Given the description of an element on the screen output the (x, y) to click on. 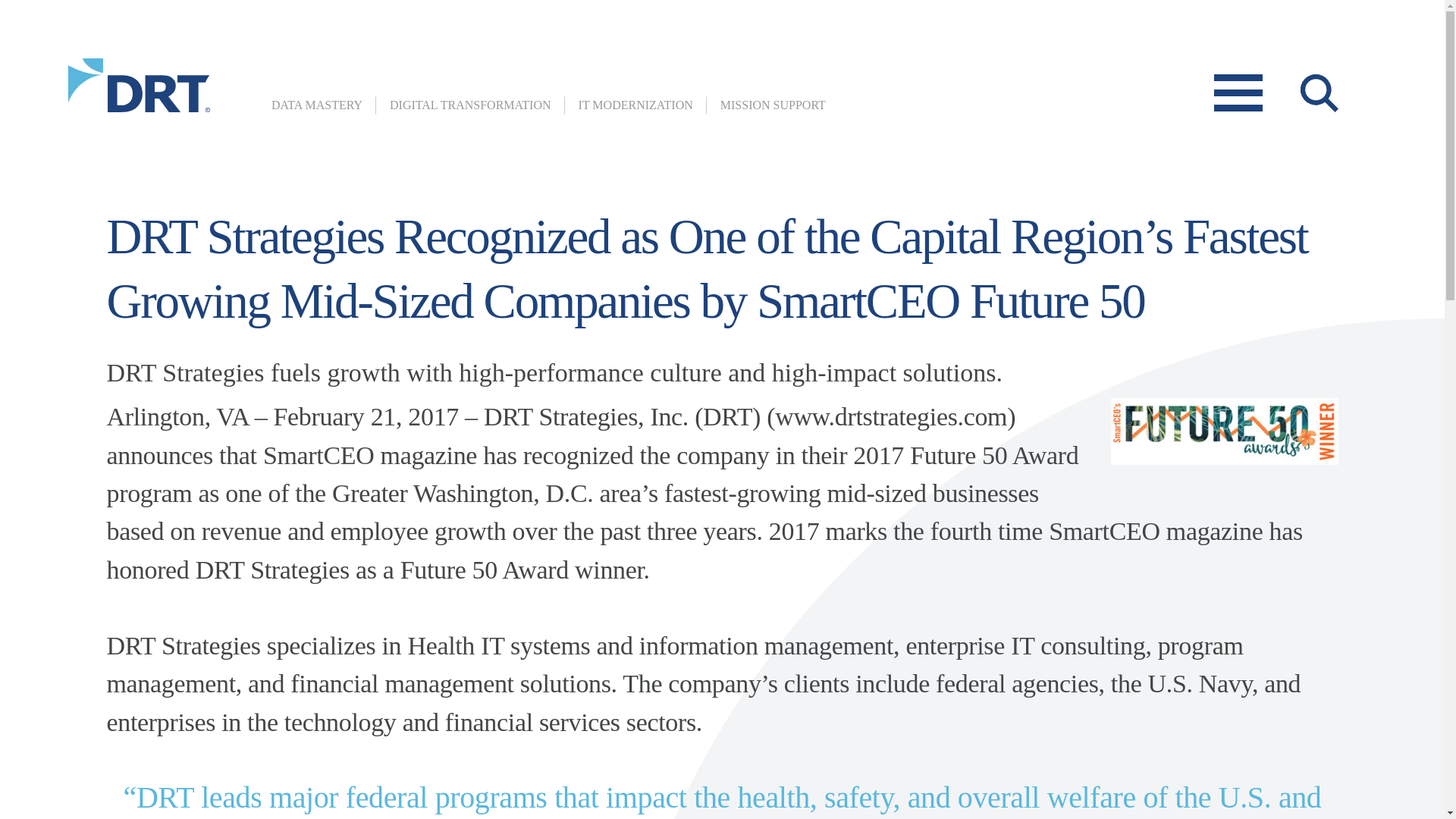
DIGITAL TRANSFORMATION (470, 104)
MISSION SUPPORT (772, 104)
DATA MASTERY (316, 104)
IT MODERNIZATION (635, 104)
